Given the description of an element on the screen output the (x, y) to click on. 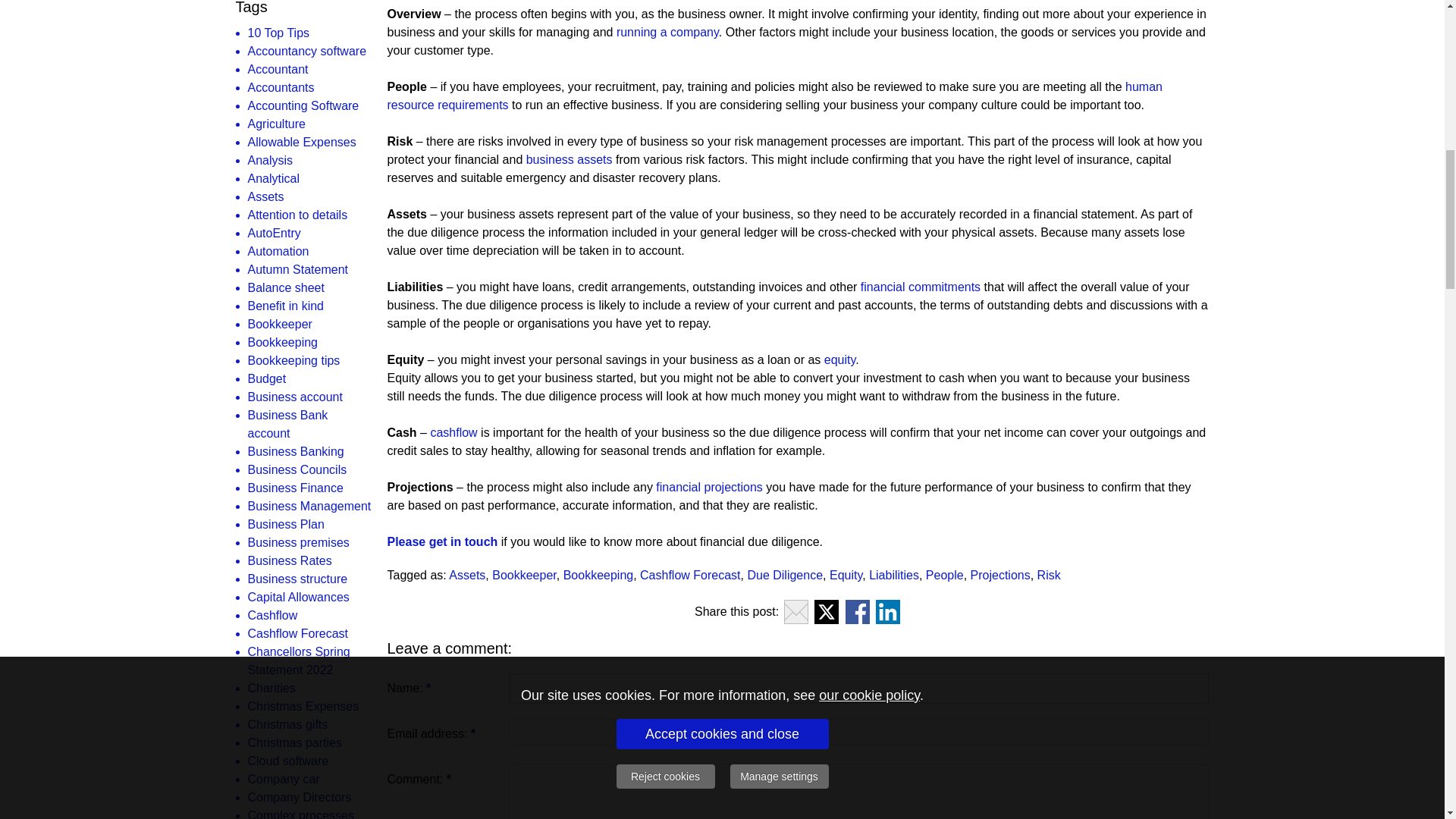
Liabilities (893, 574)
Assets (466, 574)
Equity (845, 574)
equity (840, 359)
cashflow (453, 431)
Projections (1000, 574)
financial commitments (919, 286)
Cashflow Forecast (690, 574)
Bookkeeping (598, 574)
financial projections (709, 486)
People (944, 574)
Due Diligence (784, 574)
business assets (568, 159)
human resource requirements (776, 95)
Please get in touch (442, 541)
